Given the description of an element on the screen output the (x, y) to click on. 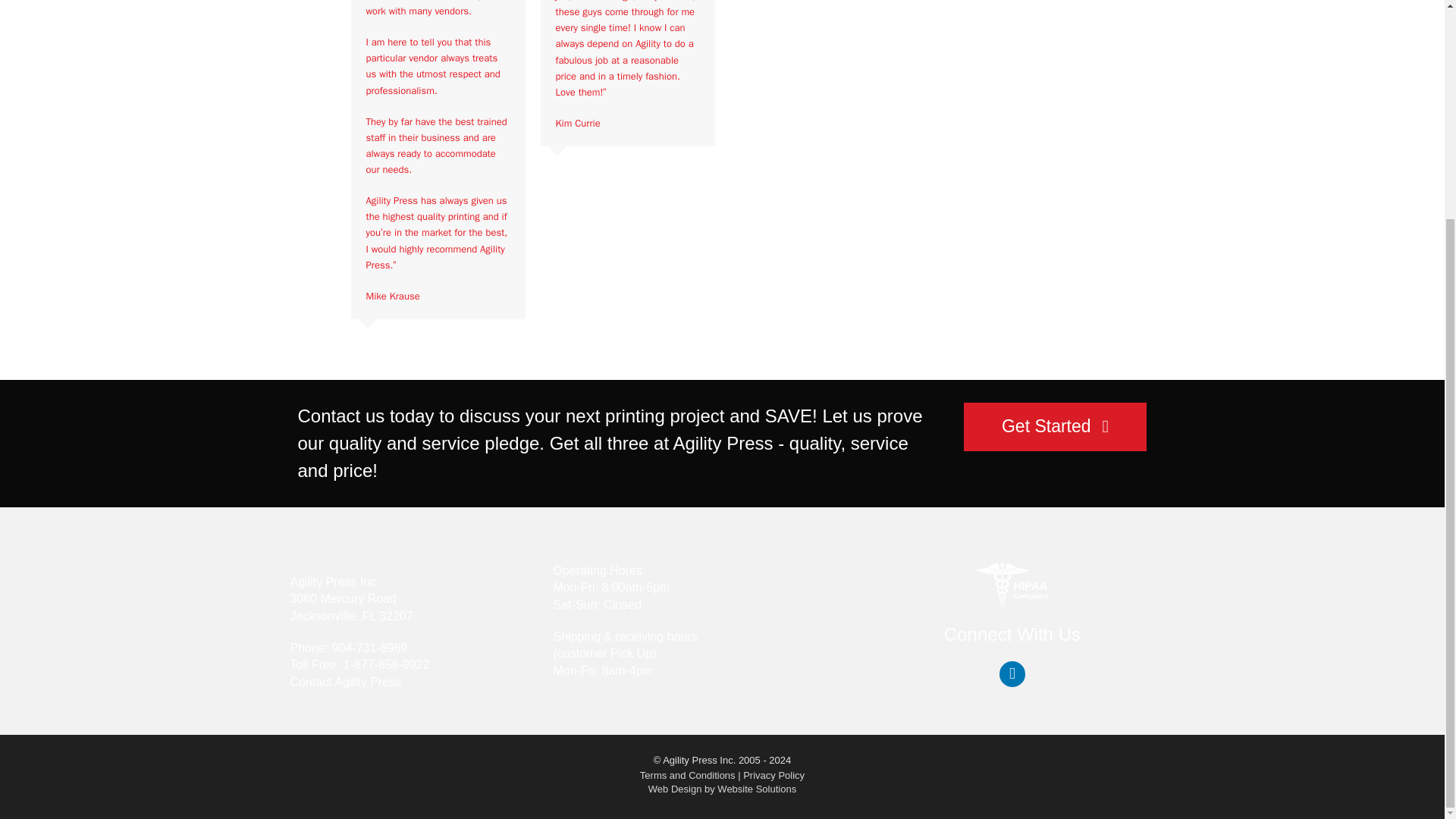
1-877-858-9922 (386, 664)
Contact Agility Press (345, 681)
Get Started (1055, 426)
Web Design (674, 788)
904-731-8989 (369, 647)
Terms and Conditions (687, 775)
Privacy Policy (773, 775)
